Given the description of an element on the screen output the (x, y) to click on. 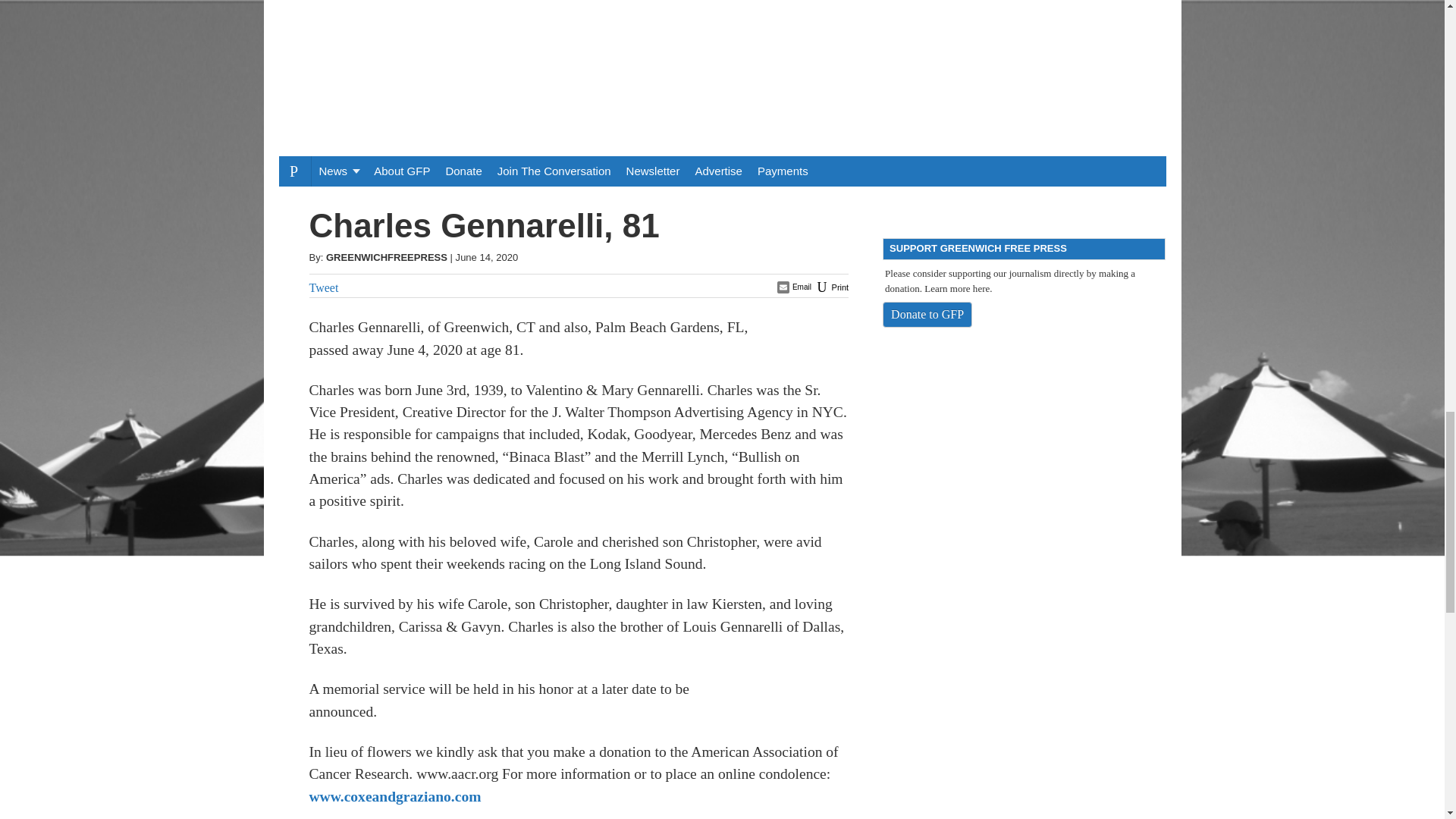
About GFP (402, 171)
Payments (782, 171)
GREENWICHFREEPRESS (386, 256)
Print (830, 286)
Posts by greenwichfreepress (386, 256)
Newsletter (652, 171)
Donate (463, 171)
print this article (830, 286)
Advertise (718, 171)
Join The Conversation (553, 171)
